Given the description of an element on the screen output the (x, y) to click on. 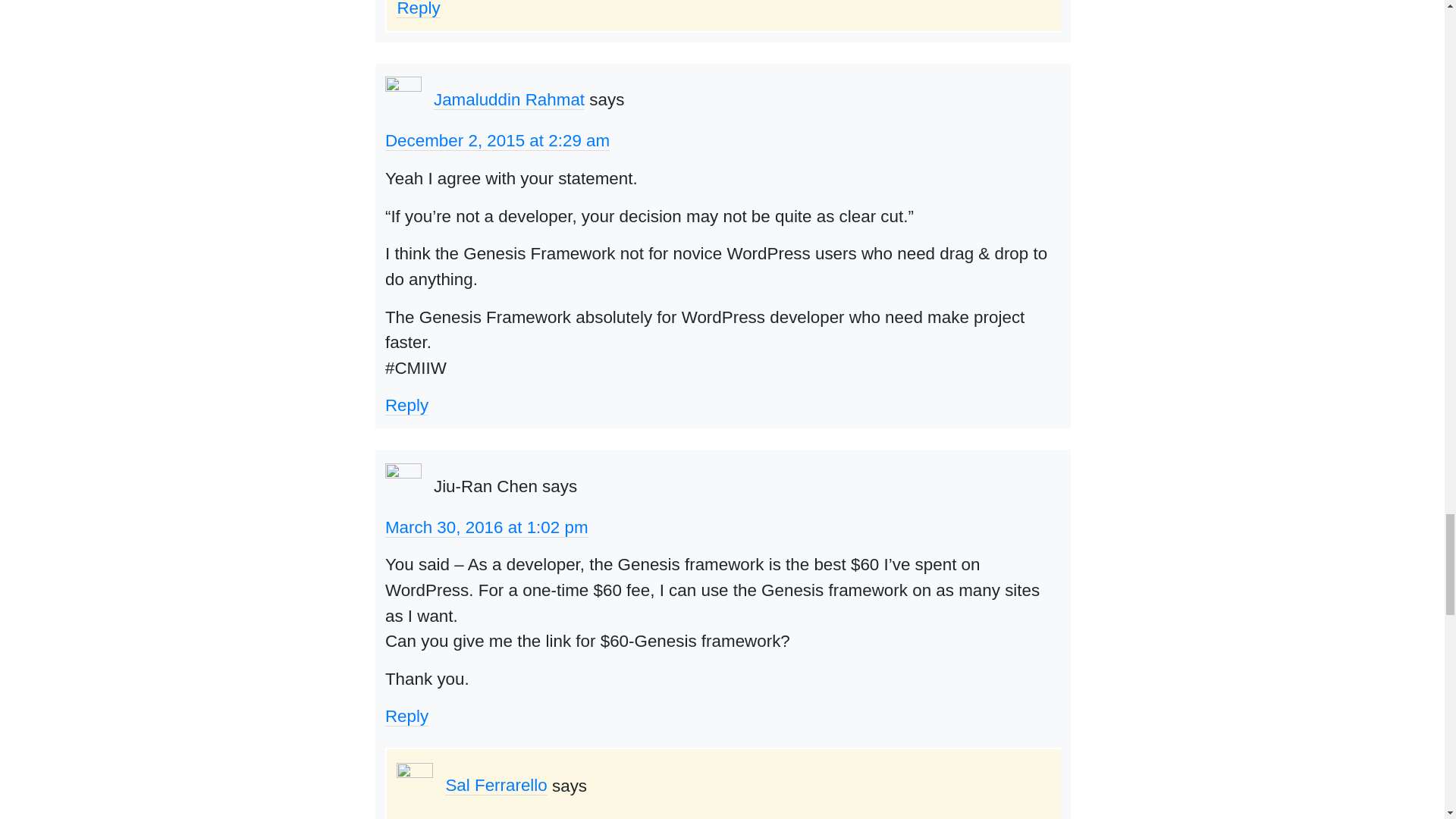
December 2, 2015 at 2:29 am (497, 140)
Reply (406, 405)
Reply (417, 9)
Jamaluddin Rahmat (509, 99)
